Given the description of an element on the screen output the (x, y) to click on. 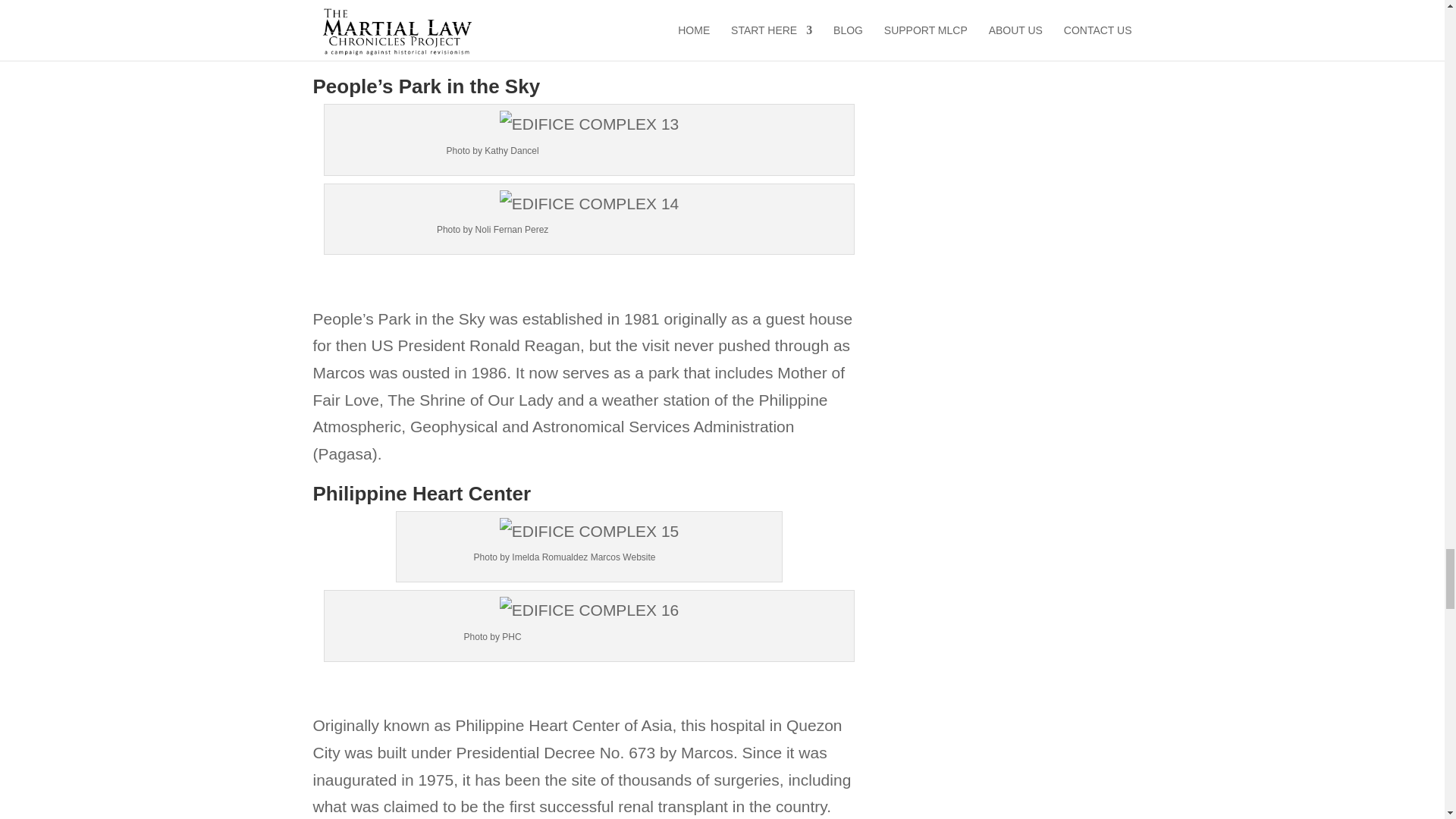
EDIFICE COMPLEX 13 (589, 124)
EDIFICE COMPLEX 14 (589, 203)
EDIFICE COMPLEX 15 (589, 531)
